Given the description of an element on the screen output the (x, y) to click on. 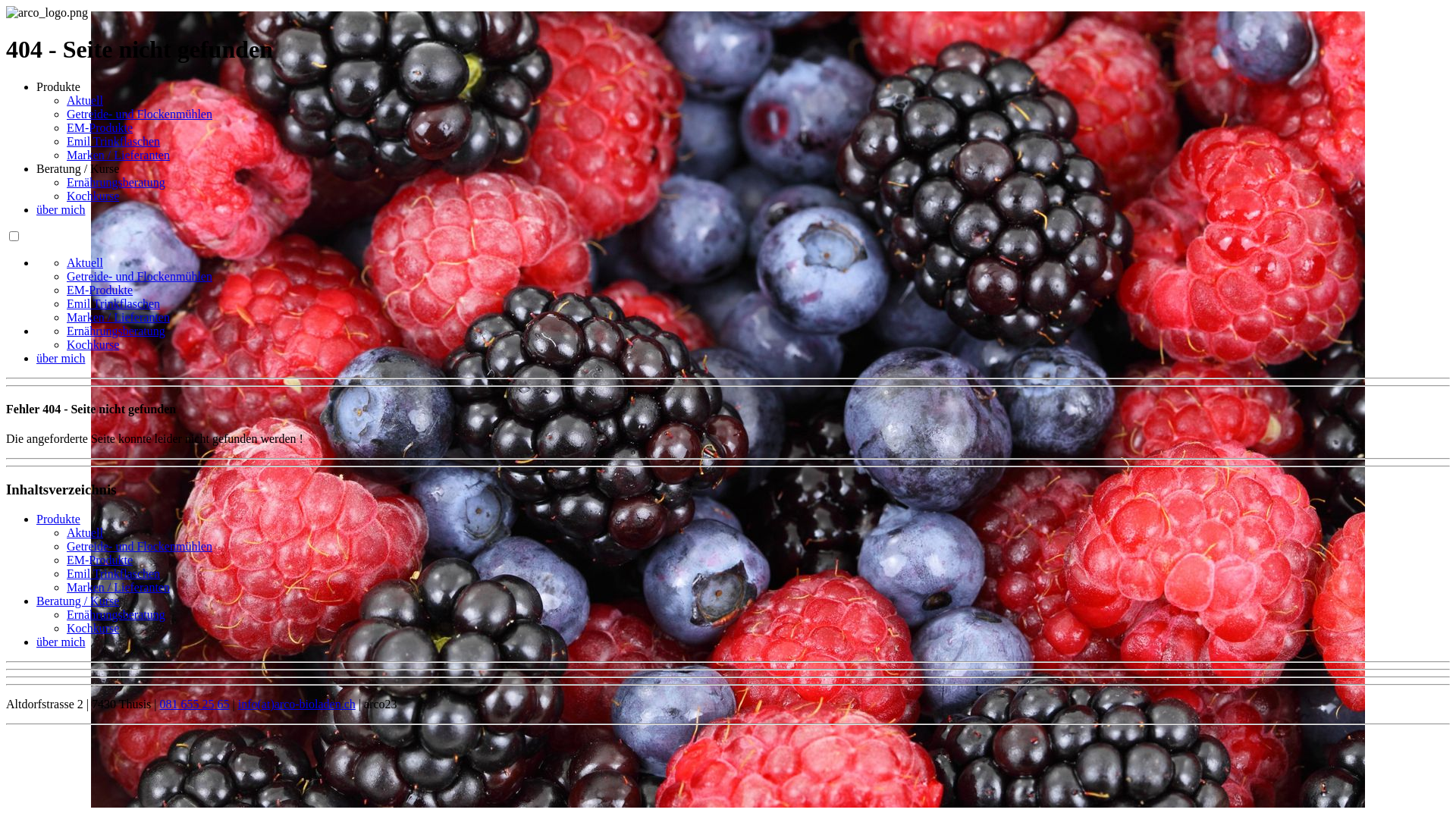
Kochkurse Element type: text (92, 627)
Kochkurse Element type: text (92, 195)
Emil Trinkflaschen Element type: text (113, 303)
Aktuell Element type: text (84, 532)
081 655 25 65 Element type: text (194, 703)
info(at)arco-bioladen.ch Element type: text (296, 703)
Marken / Lieferanten Element type: text (117, 154)
Beratung / Kurse Element type: text (77, 168)
Marken / Lieferanten Element type: text (117, 316)
Produkte Element type: text (58, 86)
Emil Trinkflaschen Element type: text (113, 140)
EM-Produkte Element type: text (99, 127)
Produkte Element type: text (58, 518)
Kochkurse Element type: text (92, 344)
Beratung / Kurse Element type: text (77, 600)
EM-Produkte Element type: text (99, 559)
Marken / Lieferanten Element type: text (117, 586)
EM-Produkte Element type: text (99, 289)
Aktuell Element type: text (84, 262)
Emil Trinkflaschen Element type: text (113, 573)
Aktuell Element type: text (84, 100)
